Given the description of an element on the screen output the (x, y) to click on. 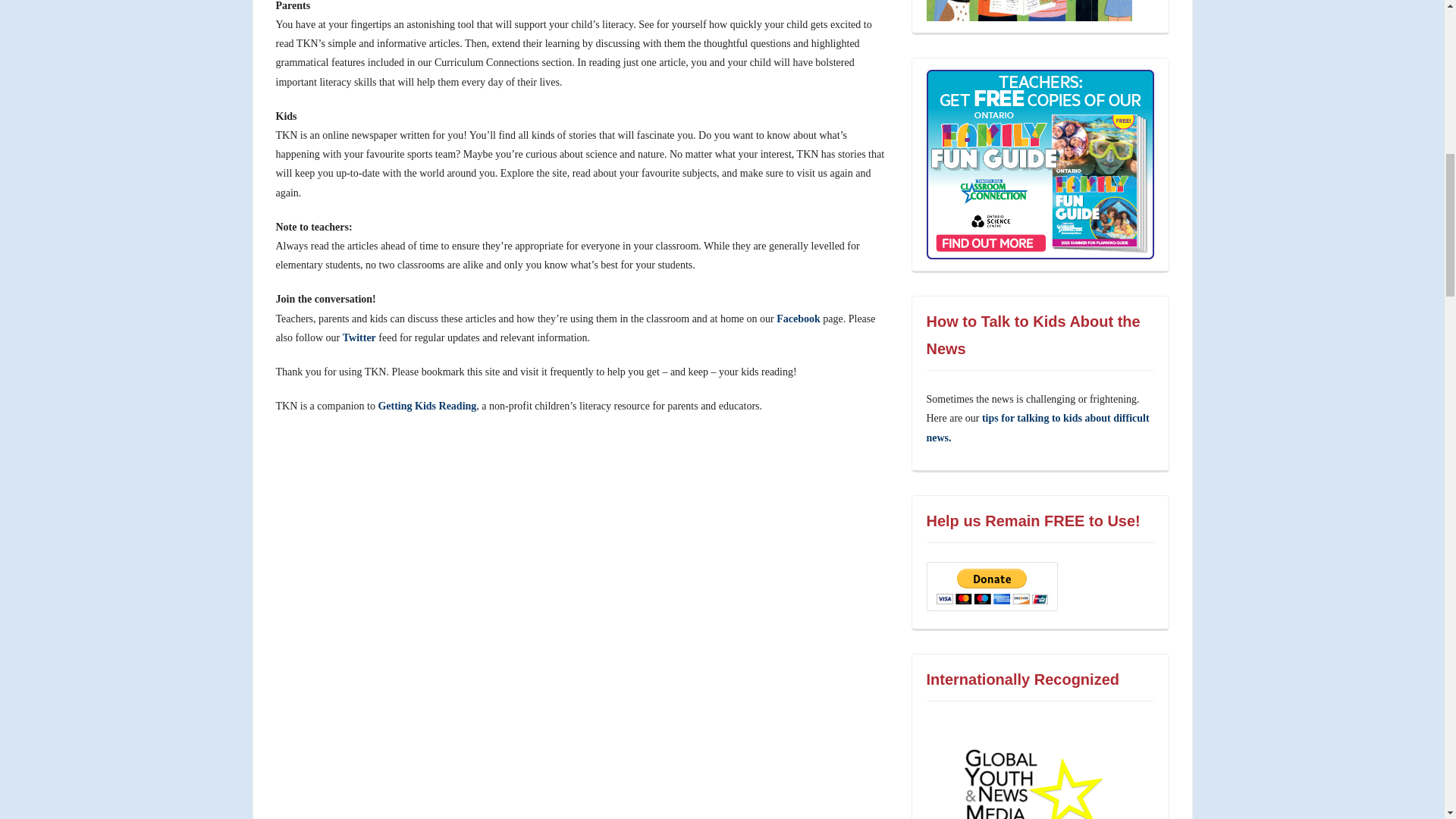
Teaching Kids News, Facebook page. (798, 318)
Teaching Kids the News, Twitter feed (358, 337)
Getting Kids Reading (426, 405)
